Given the description of an element on the screen output the (x, y) to click on. 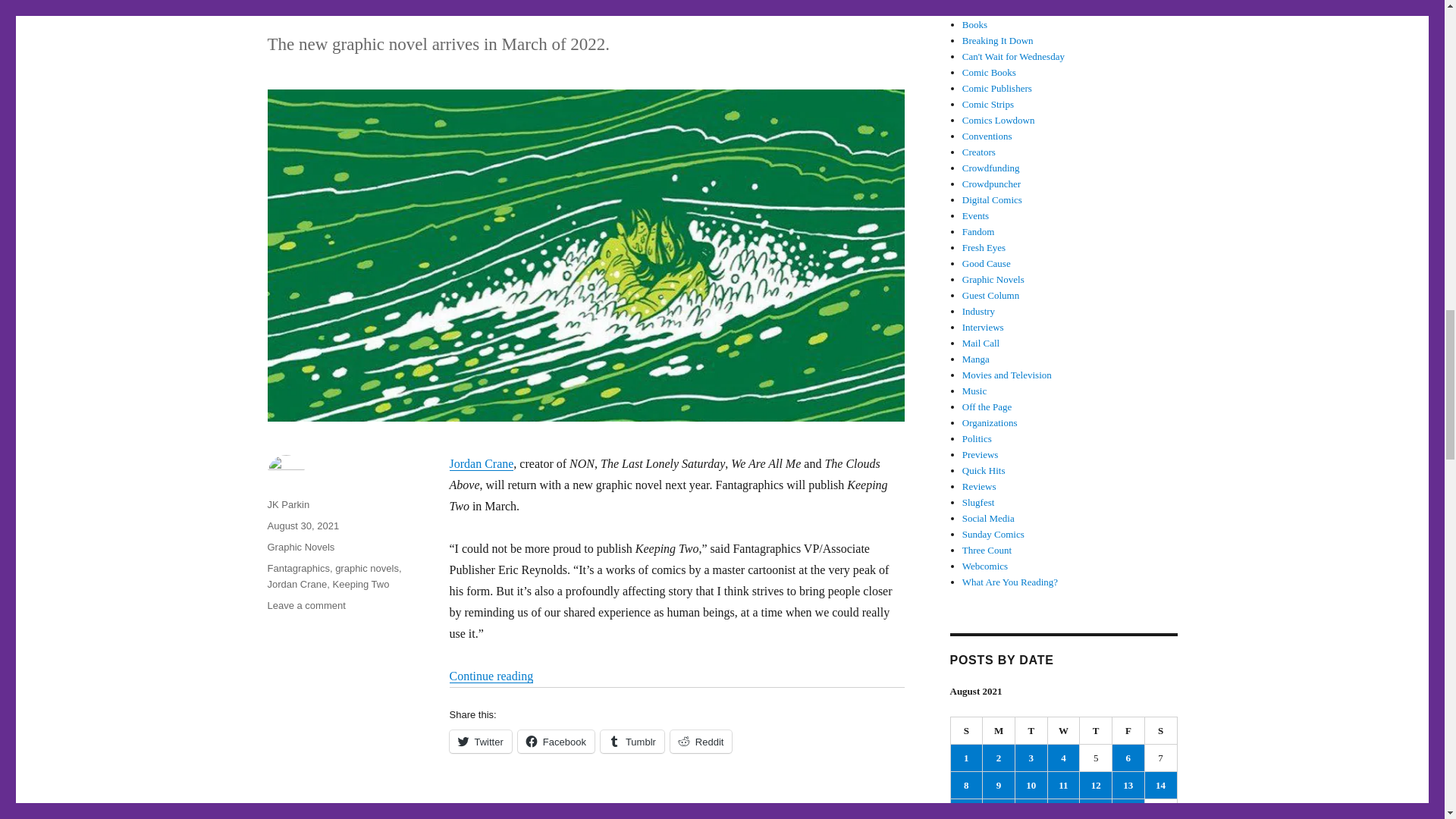
Click to share on Twitter (479, 741)
Click to share on Tumblr (631, 741)
Click to share on Facebook (556, 741)
Click to share on Reddit (700, 741)
